Given the description of an element on the screen output the (x, y) to click on. 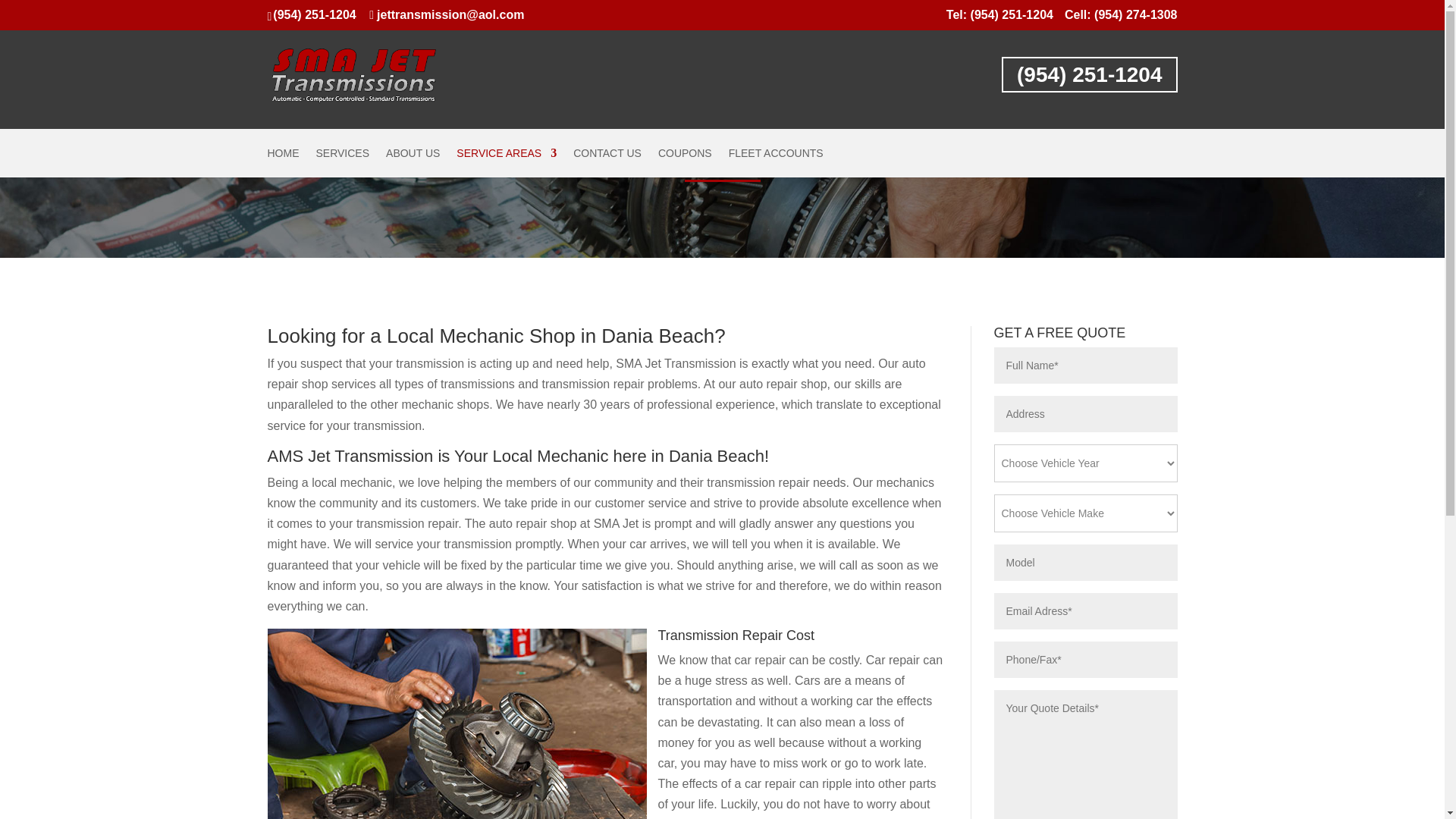
SERVICES (342, 162)
CONTACT US (607, 162)
COUPONS (684, 162)
ABOUT US (412, 162)
HOME (282, 162)
SERVICE AREAS (506, 162)
FLEET ACCOUNTS (776, 162)
